Given the description of an element on the screen output the (x, y) to click on. 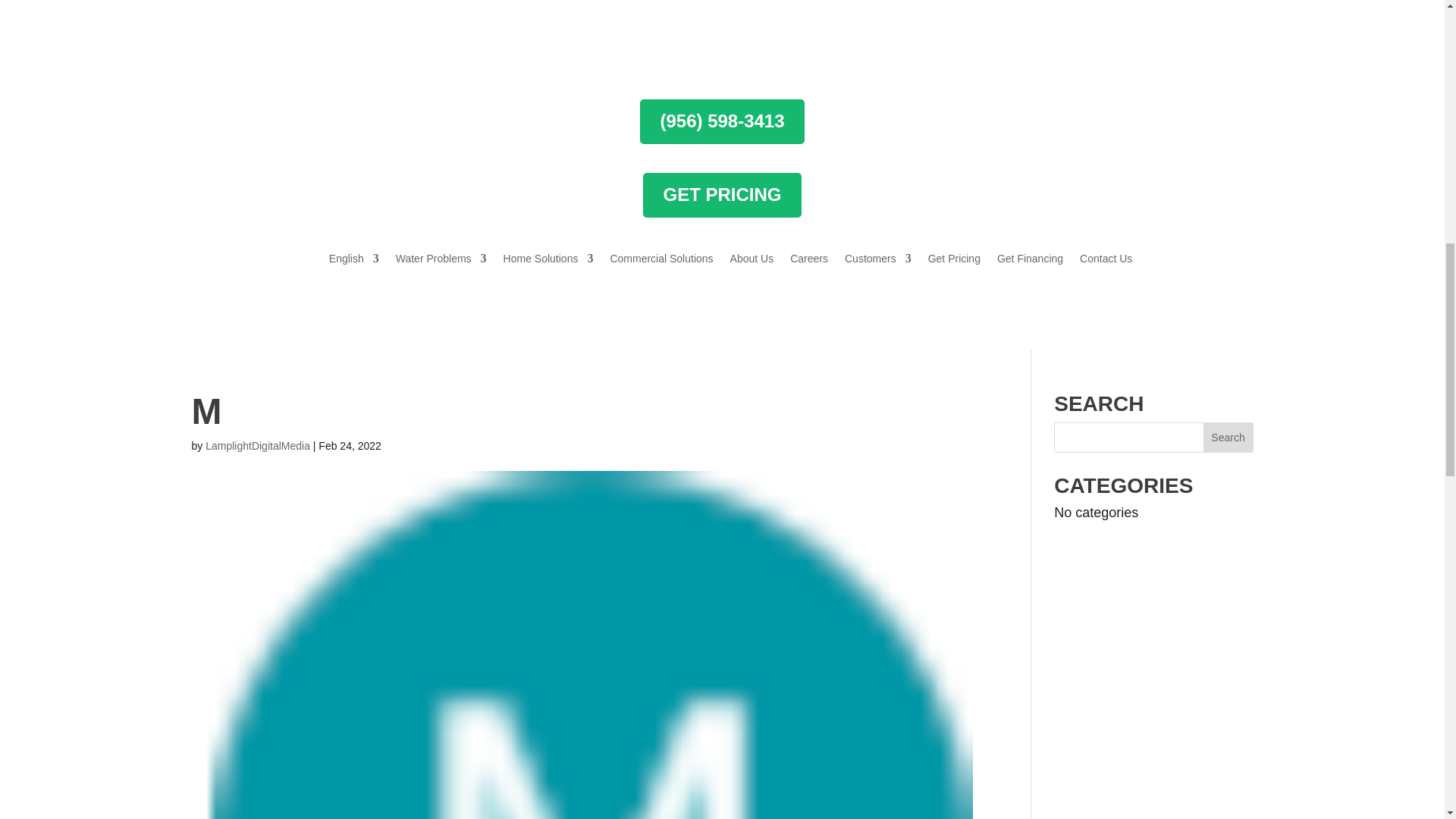
Search (1228, 437)
Posts by LamplightDigitalMedia (257, 445)
English (345, 261)
GET PRICING (721, 194)
